Given the description of an element on the screen output the (x, y) to click on. 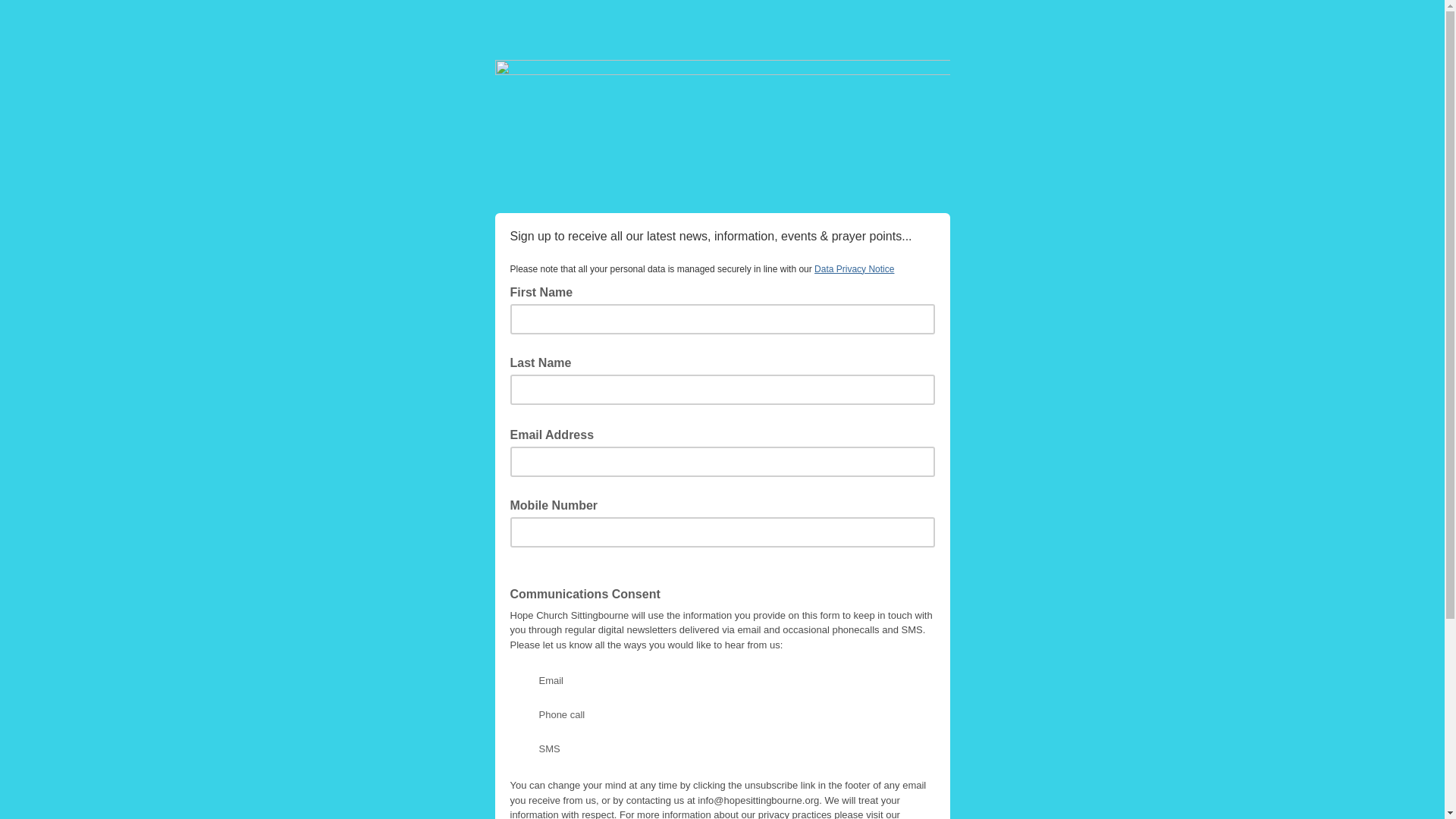
Data Privacy Notice (853, 268)
